Given the description of an element on the screen output the (x, y) to click on. 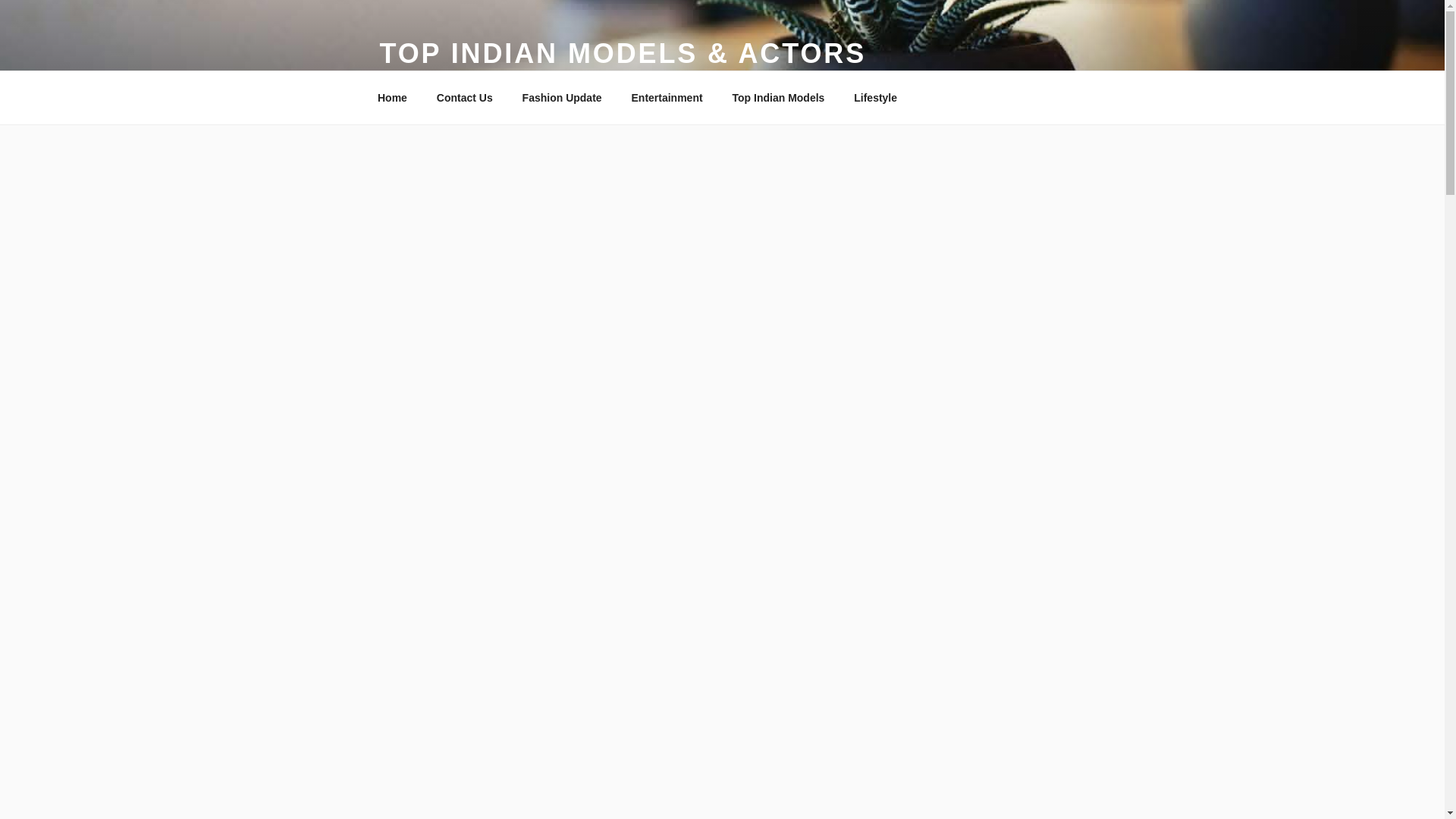
Home (392, 97)
Lifestyle (876, 97)
Top Indian Models (778, 97)
Fashion Update (561, 97)
Entertainment (666, 97)
Contact Us (464, 97)
